Given the description of an element on the screen output the (x, y) to click on. 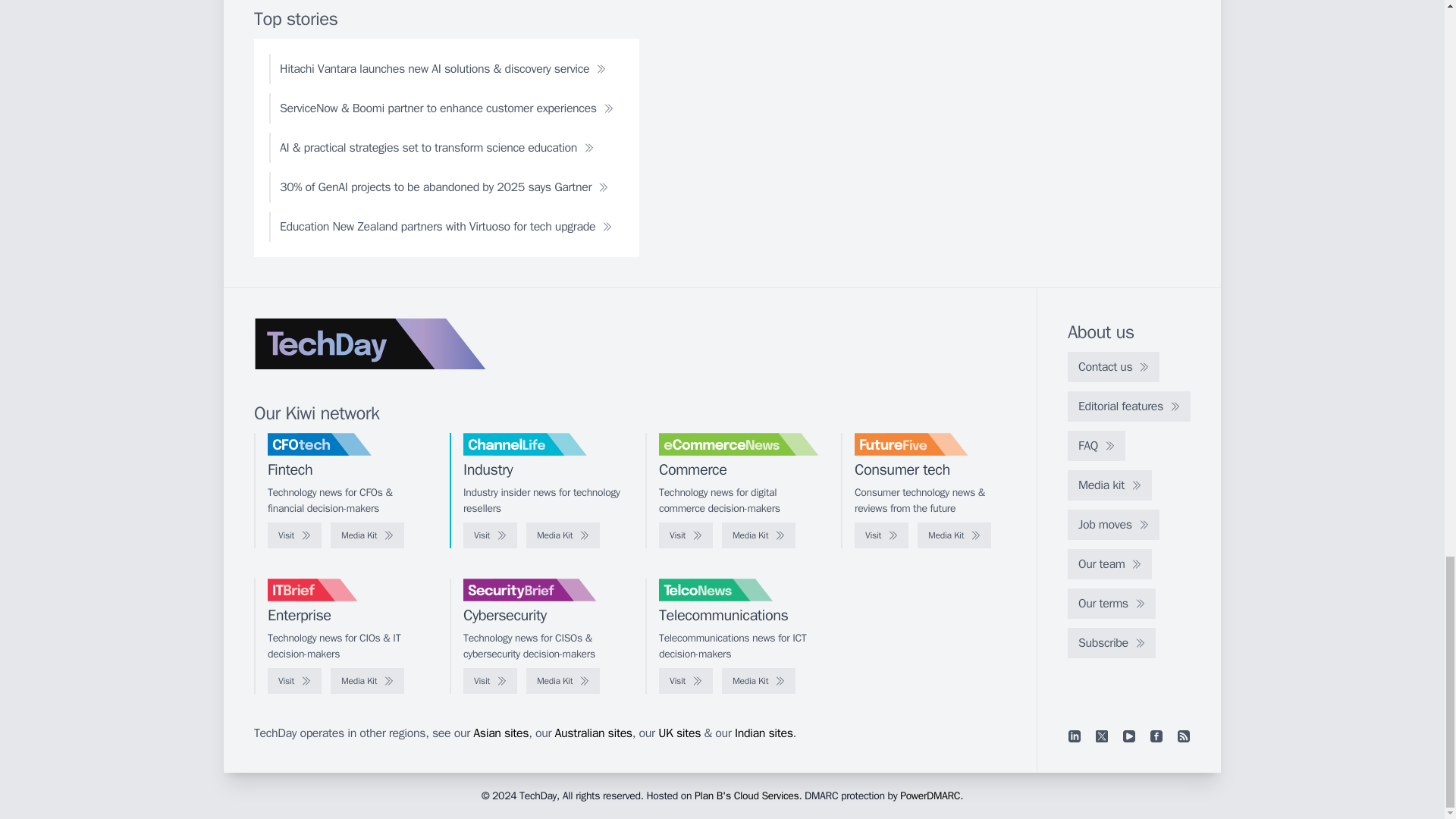
Visit (489, 534)
Media Kit (367, 534)
Media Kit (562, 680)
Visit (489, 680)
Media Kit (562, 534)
Visit (294, 534)
Media Kit (954, 534)
Media Kit (367, 680)
Visit (686, 534)
Visit (294, 680)
Media Kit (758, 534)
Visit (881, 534)
